Given the description of an element on the screen output the (x, y) to click on. 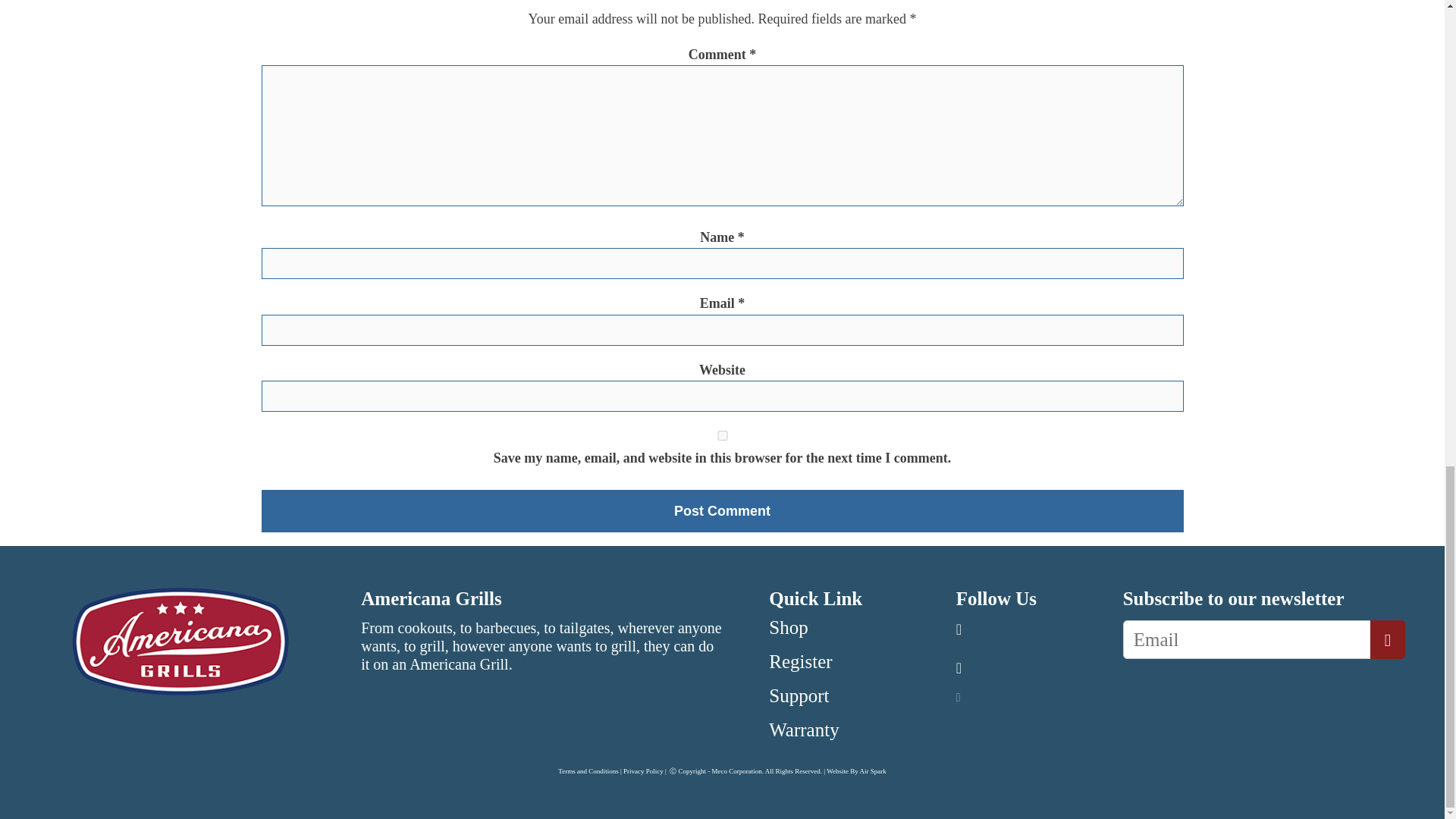
Warranty (803, 729)
Support (798, 695)
Terms and Conditions (587, 770)
Post Comment (721, 511)
Post Comment (721, 511)
Register (799, 661)
Privacy Policy (643, 770)
Air Spark (872, 770)
Shop (788, 627)
